Given the description of an element on the screen output the (x, y) to click on. 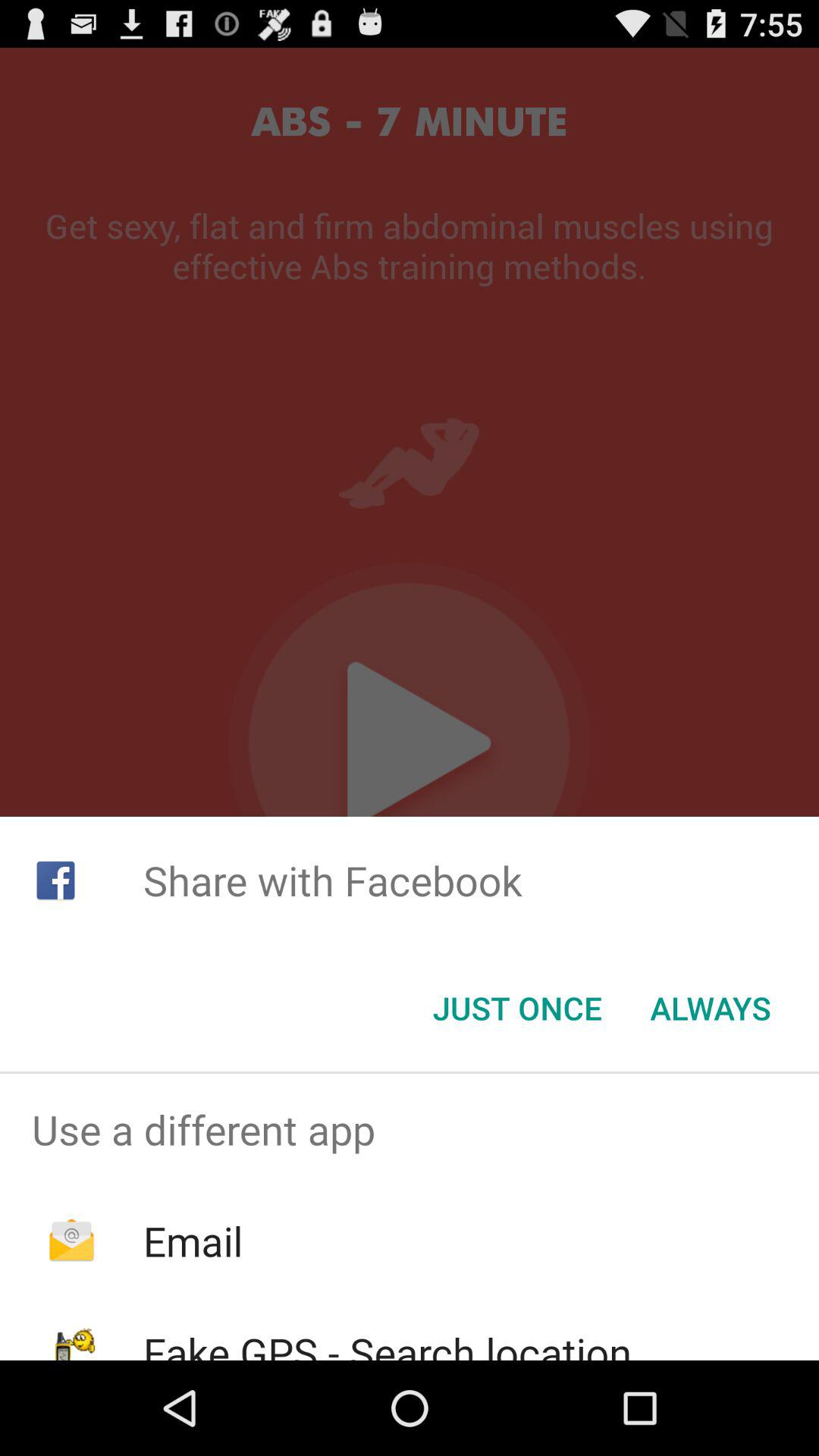
turn on icon below the share with facebook item (517, 1007)
